Given the description of an element on the screen output the (x, y) to click on. 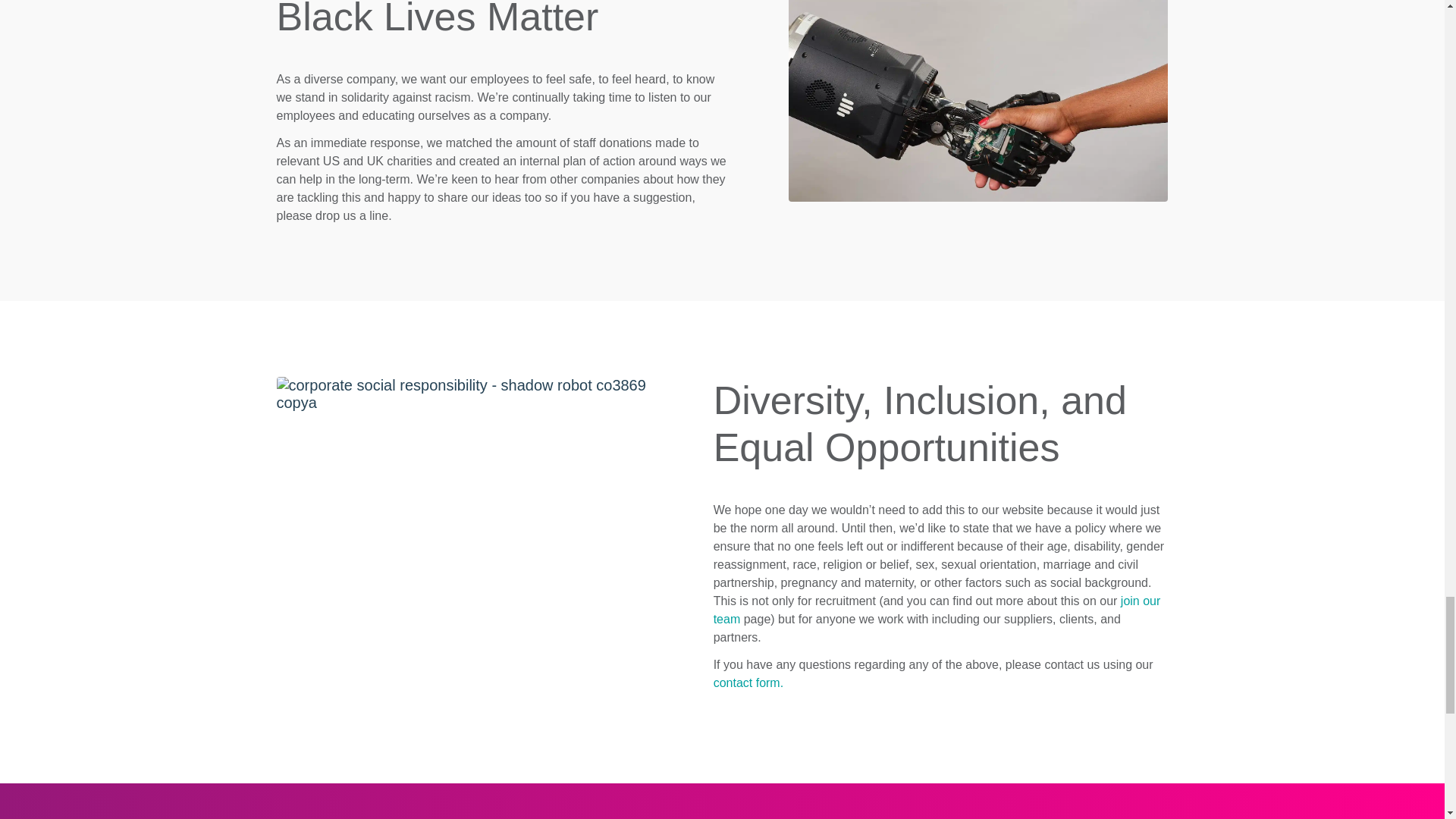
contact form. (748, 682)
join our team (936, 609)
